Given the description of an element on the screen output the (x, y) to click on. 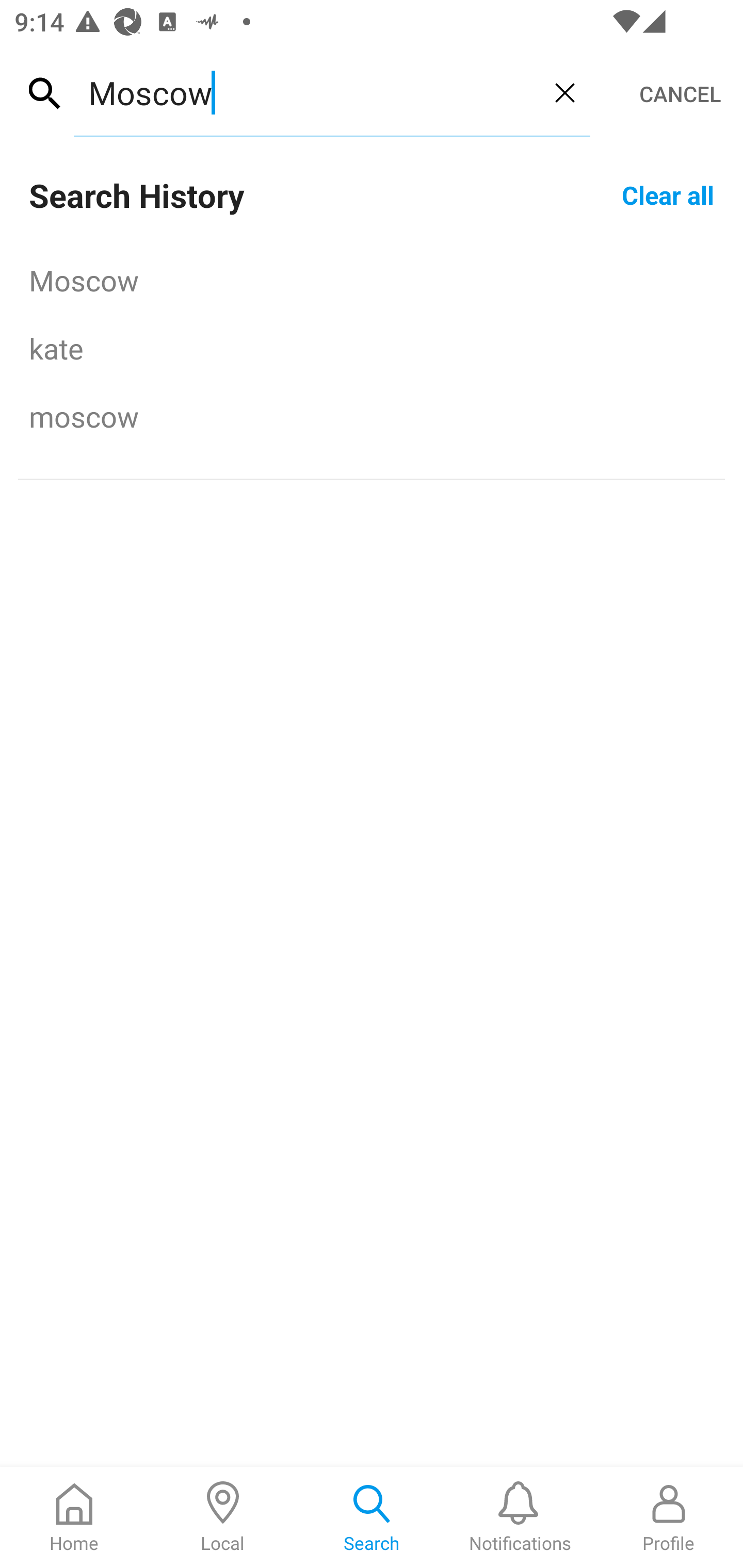
Clear query (564, 92)
CANCEL (680, 93)
Moscow (306, 92)
Clear all (667, 194)
Moscow (371, 279)
kate (371, 347)
moscow (371, 416)
Home (74, 1517)
Local (222, 1517)
Notifications (519, 1517)
Profile (668, 1517)
